Given the description of an element on the screen output the (x, y) to click on. 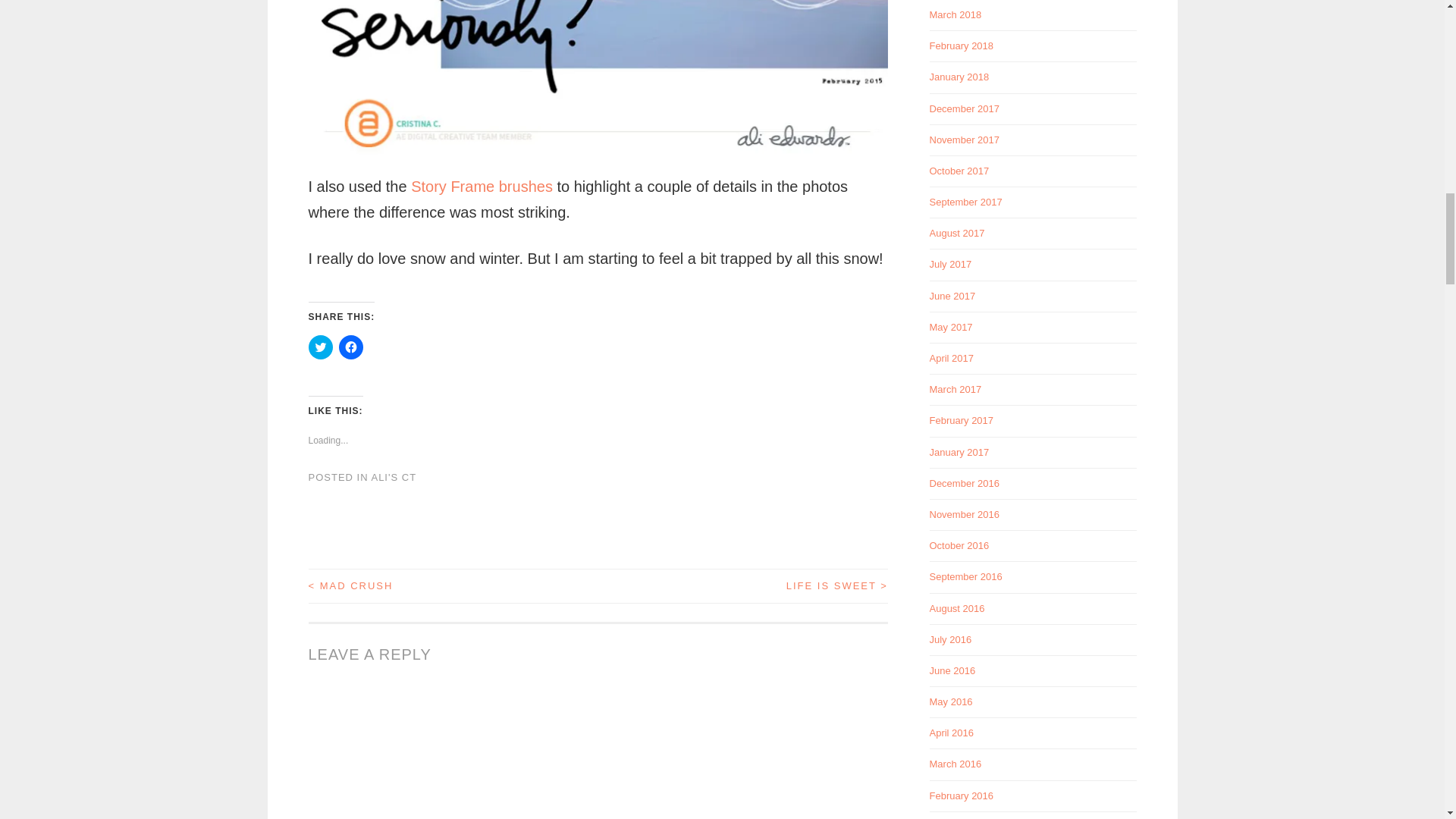
Story Frame brushes (481, 186)
Click to share on Twitter (319, 346)
Comment Form (596, 752)
Click to share on Facebook (349, 346)
ALI'S CT (393, 477)
